Given the description of an element on the screen output the (x, y) to click on. 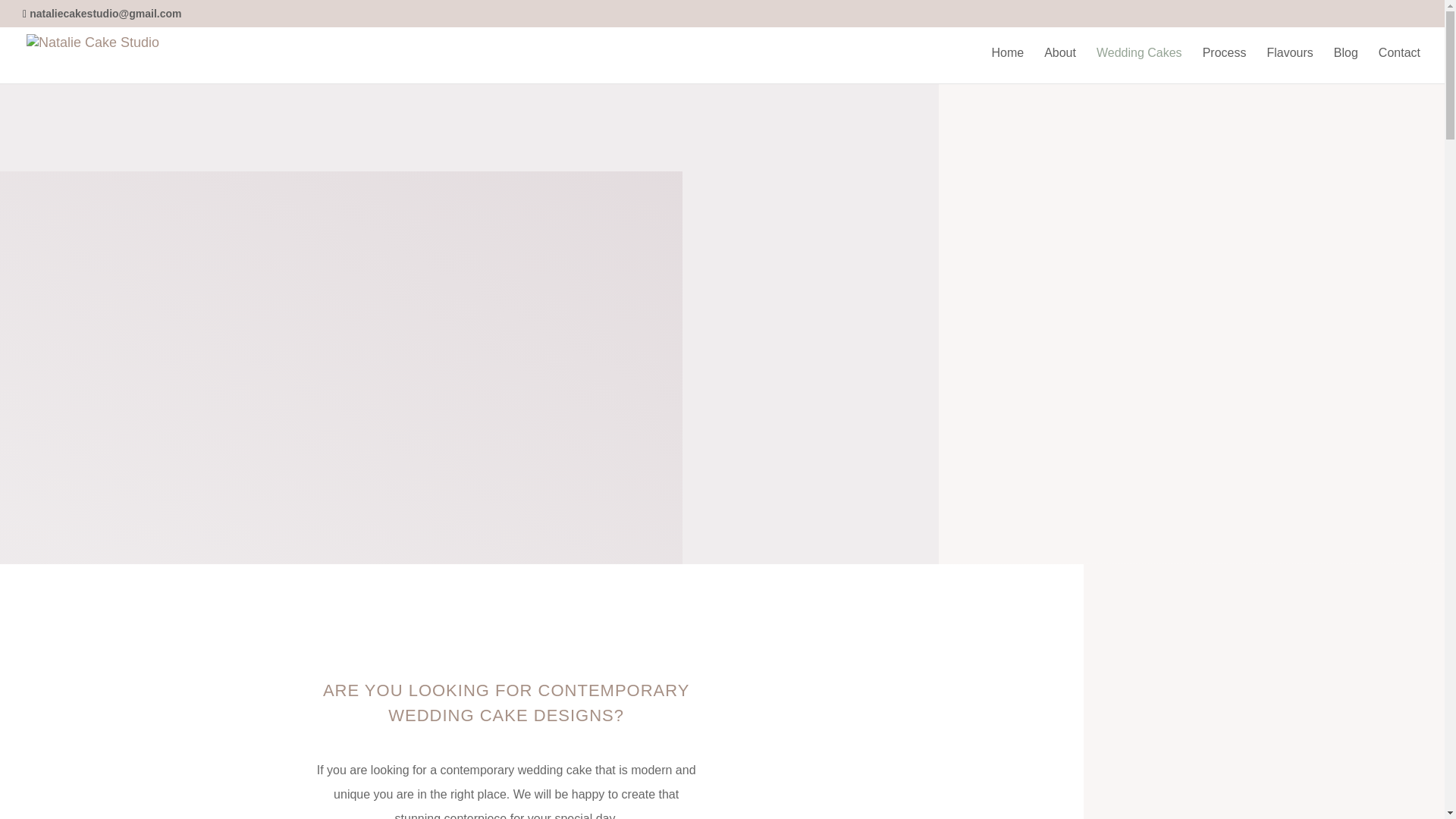
Process (1224, 65)
rustic cake styling (937, 748)
Home (1007, 65)
Contact (1399, 65)
About (1059, 65)
Flavours (1289, 65)
Wedding Cakes (1139, 65)
Blog (1345, 65)
